Given the description of an element on the screen output the (x, y) to click on. 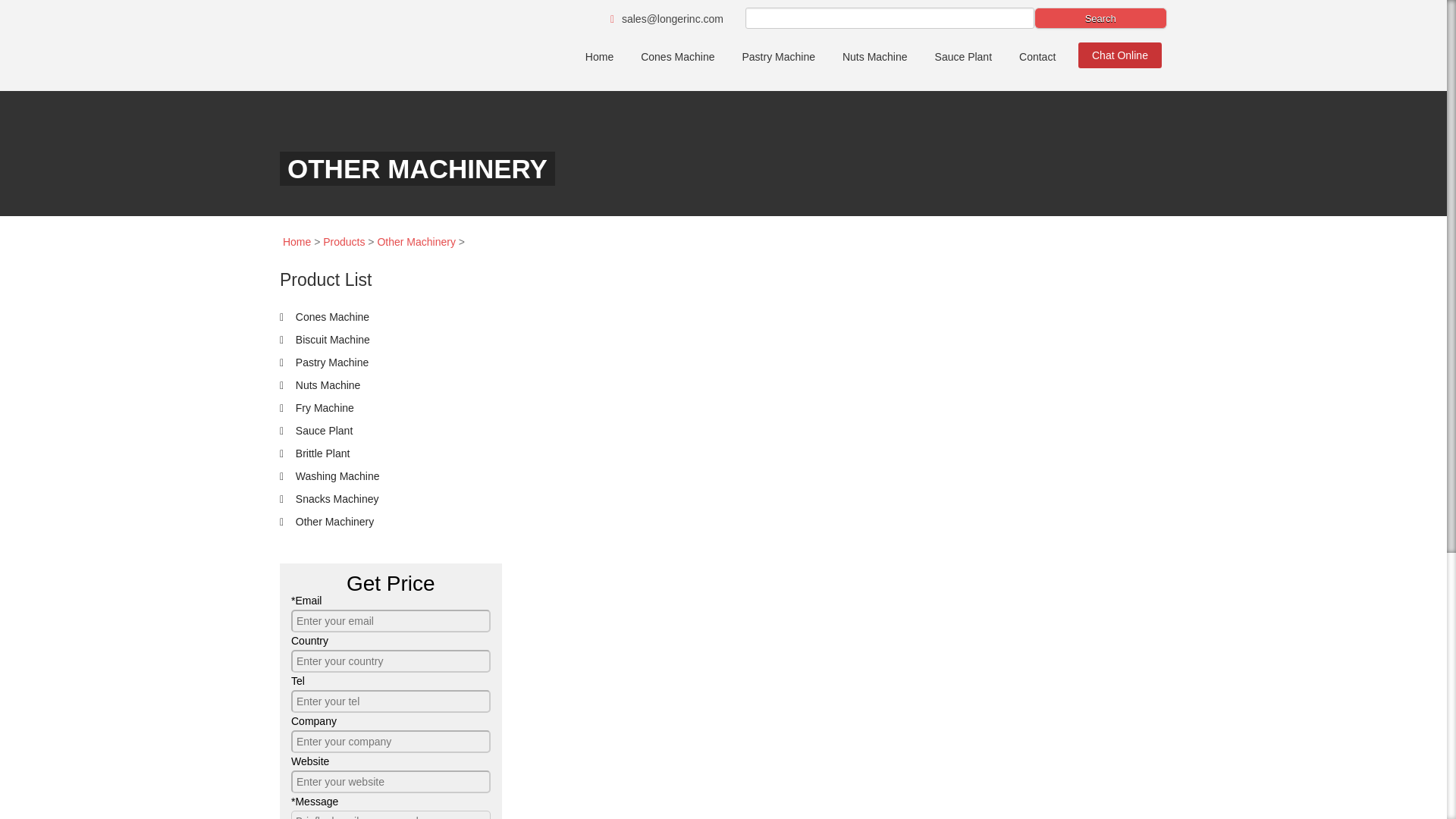
   Other Machinery (326, 521)
Sauce Plant (963, 56)
   Brittle Plant (314, 453)
   Sauce Plant (315, 430)
   Cones Machine (324, 316)
Pastry Machine (778, 56)
   Washing Machine (329, 476)
   Snacks Machiney (328, 499)
Chat Online (1119, 54)
Nuts Machine (874, 56)
